Given the description of an element on the screen output the (x, y) to click on. 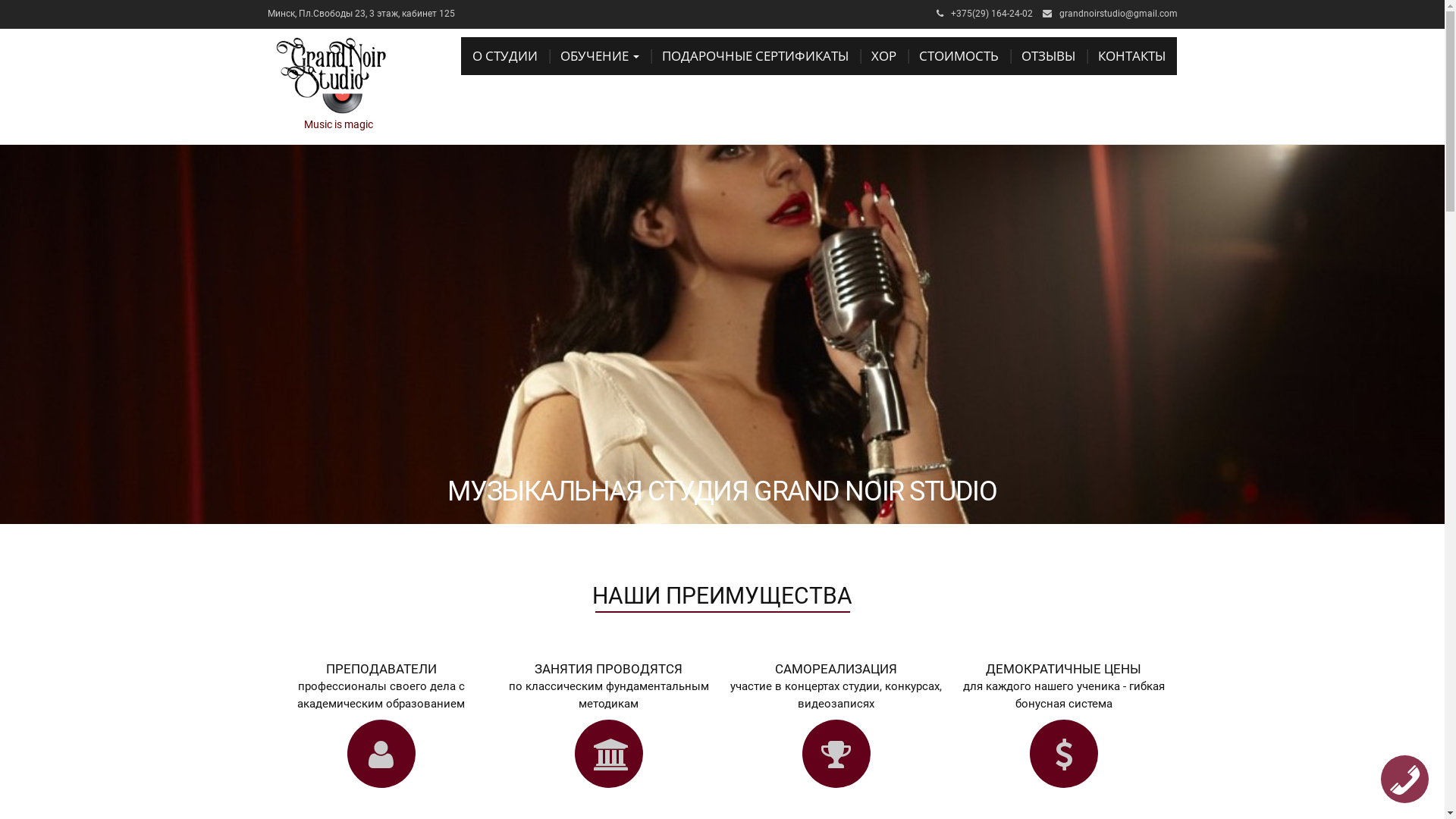
grandnoirstudio@gmail.com Element type: text (1117, 13)
